Given the description of an element on the screen output the (x, y) to click on. 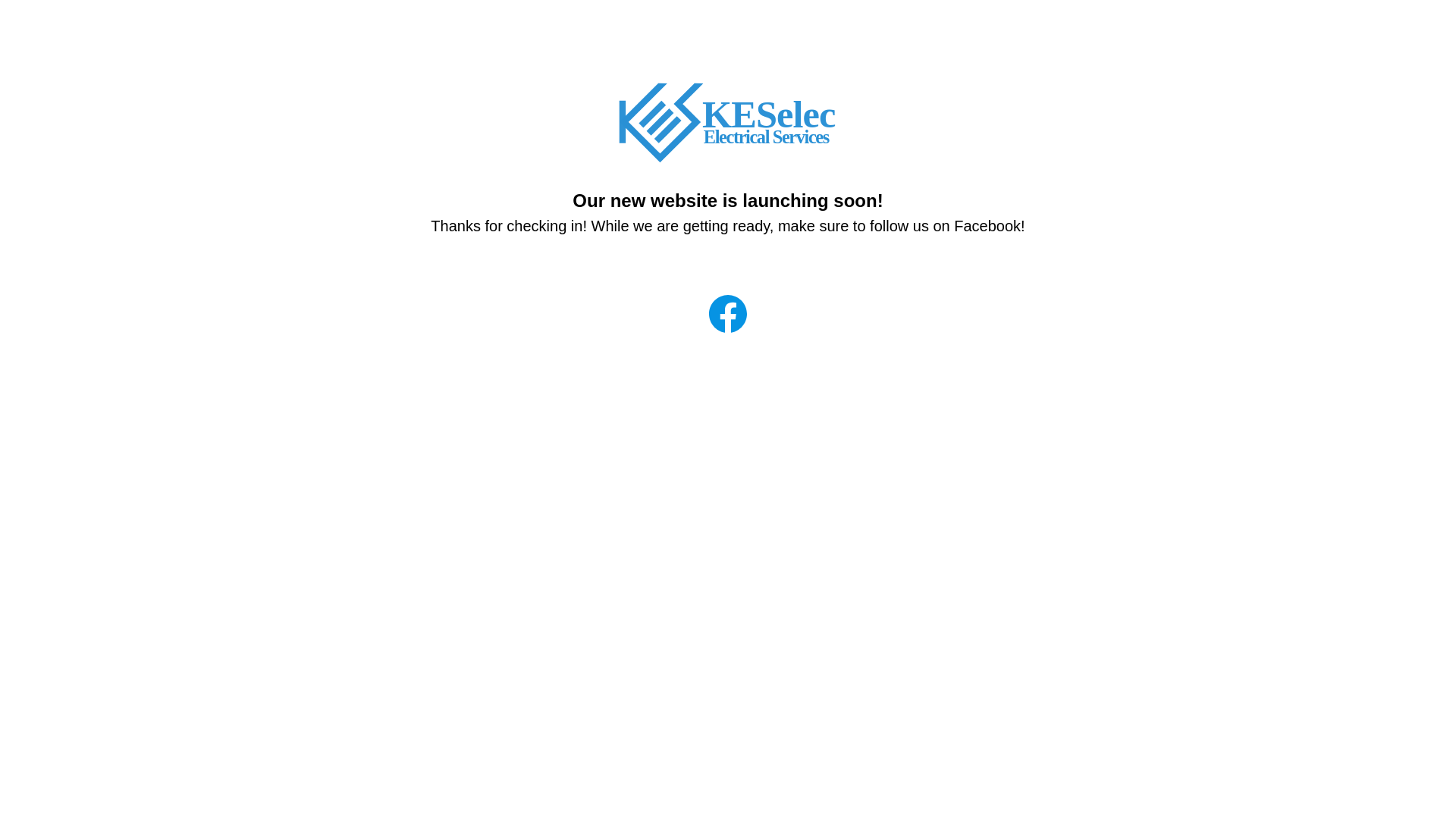
Facebook Element type: text (727, 313)
